Given the description of an element on the screen output the (x, y) to click on. 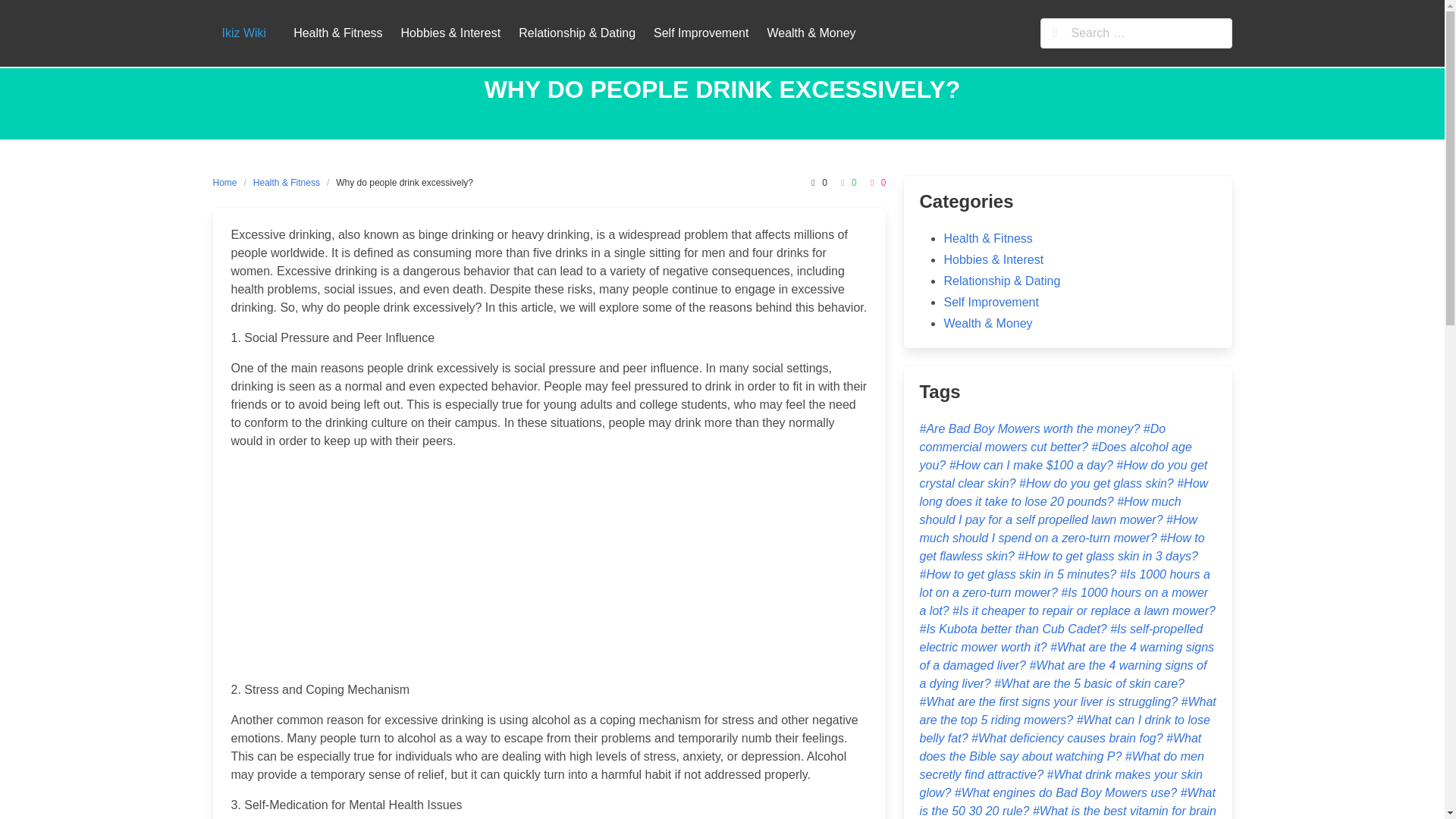
Self Improvement (701, 33)
0 (876, 182)
Self Improvement (701, 33)
0 (846, 182)
Self Improvement (990, 301)
Ikiz Wiki (243, 33)
0 (816, 182)
Home (227, 182)
Ikiz Wiki (243, 33)
Why do people drink excessively? (404, 182)
